Given the description of an element on the screen output the (x, y) to click on. 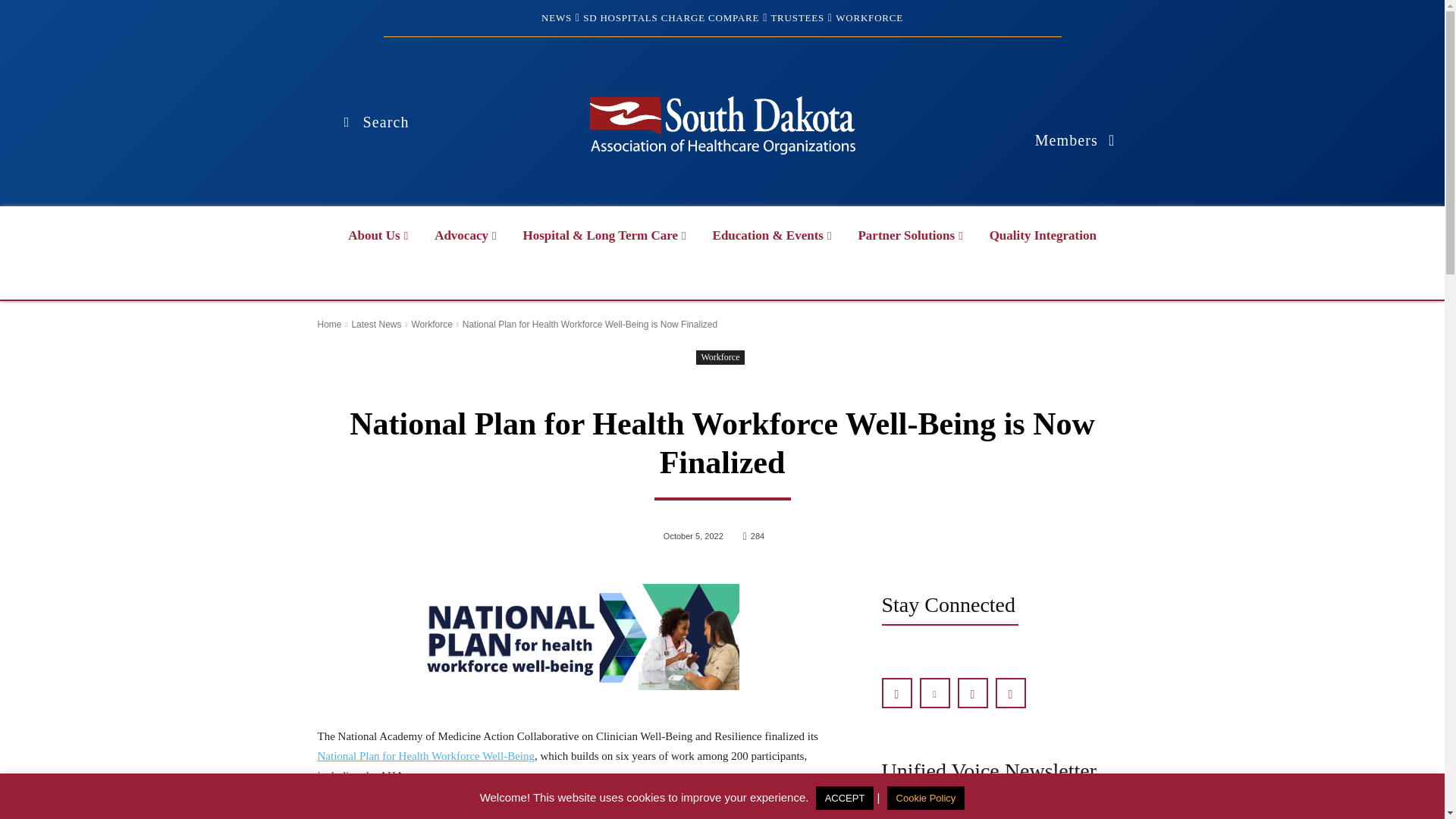
View all posts in Workforce (430, 324)
National-Strategy-3 (581, 636)
Members (1075, 139)
View all posts in Latest News (375, 324)
